Given the description of an element on the screen output the (x, y) to click on. 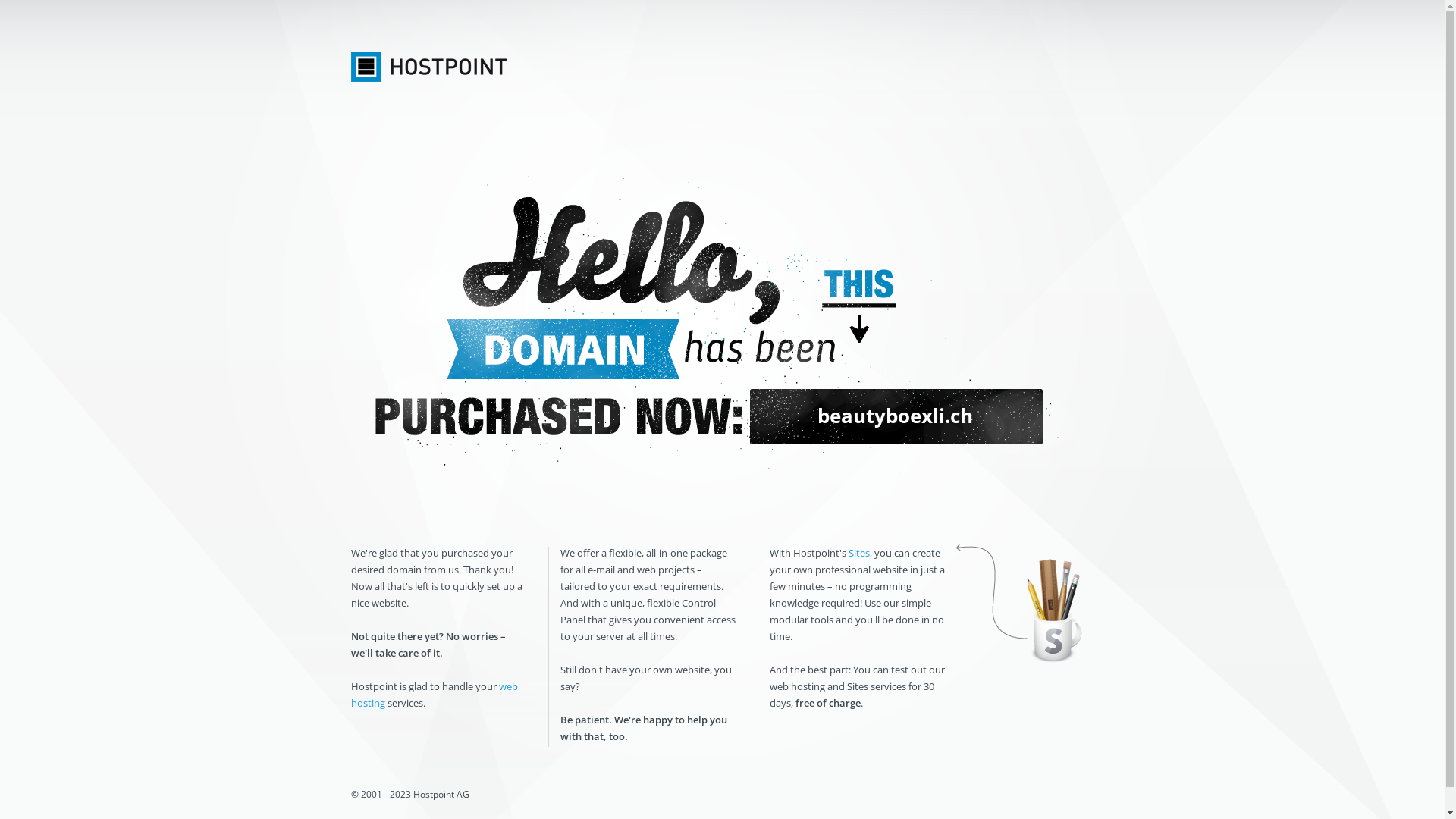
web hosting Element type: text (433, 694)
Sites Element type: text (858, 552)
